Given the description of an element on the screen output the (x, y) to click on. 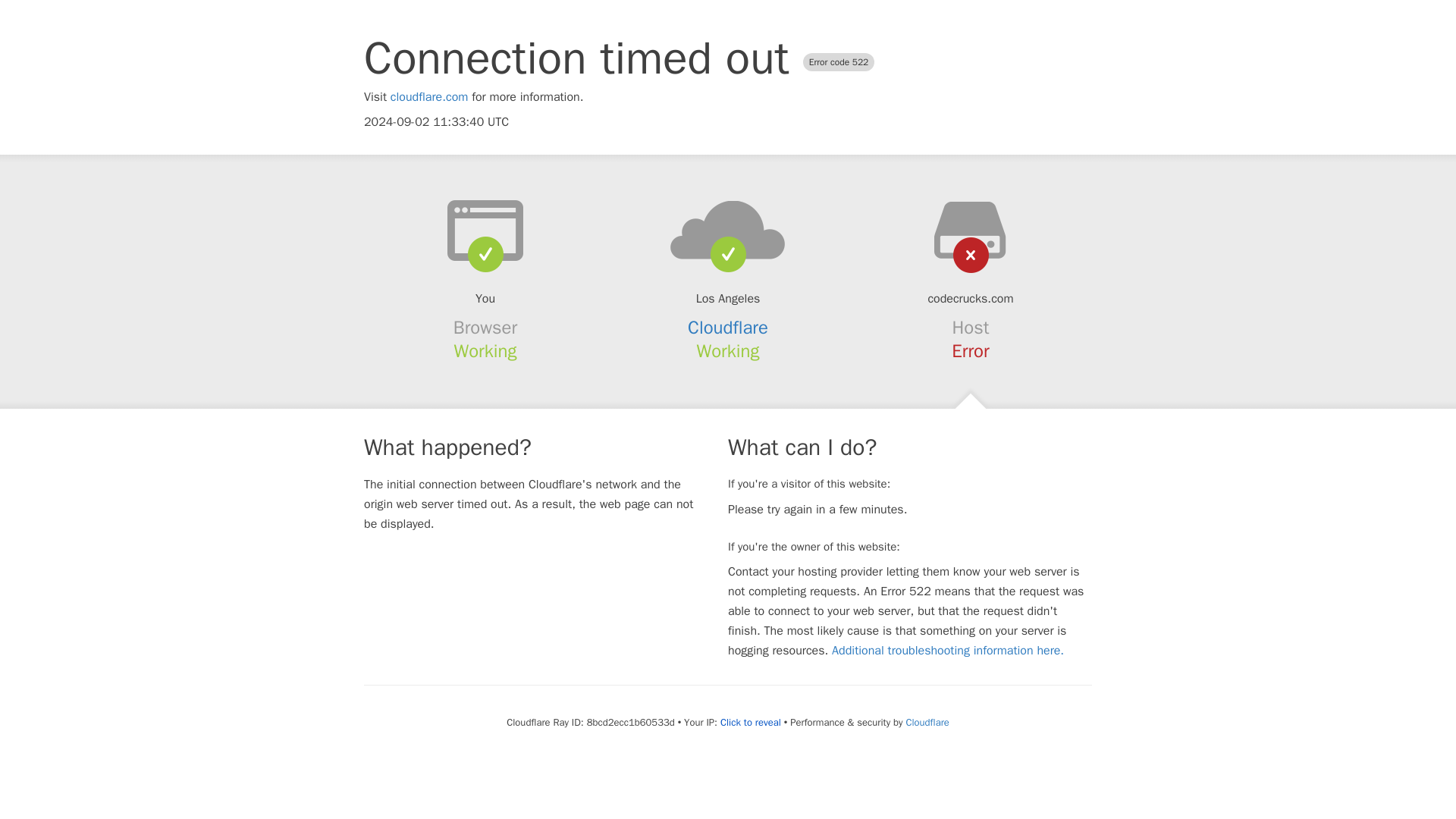
Cloudflare (727, 327)
Click to reveal (750, 722)
cloudflare.com (429, 96)
Additional troubleshooting information here. (947, 650)
Cloudflare (927, 721)
